Given the description of an element on the screen output the (x, y) to click on. 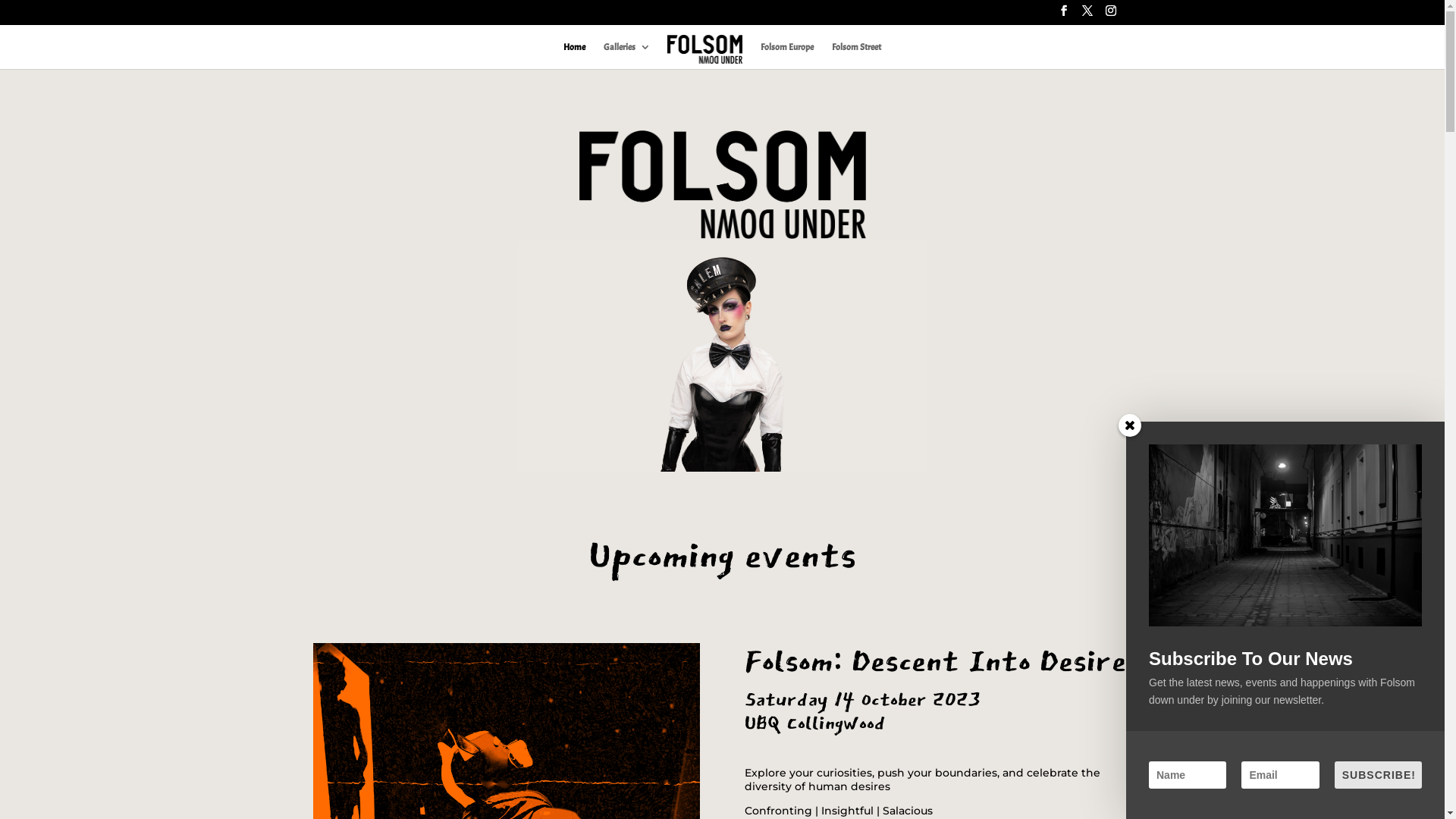
Galleries Element type: text (626, 54)
162716618_1005549710214675_8741085006454784373_n Element type: hover (722, 184)
salem-grey Element type: hover (721, 356)
Home Element type: text (574, 54)
SUBSCRIBE! Element type: text (1377, 774)
Folsom Europe Element type: text (786, 54)
Folsom Street Element type: text (856, 54)
